Given the description of an element on the screen output the (x, y) to click on. 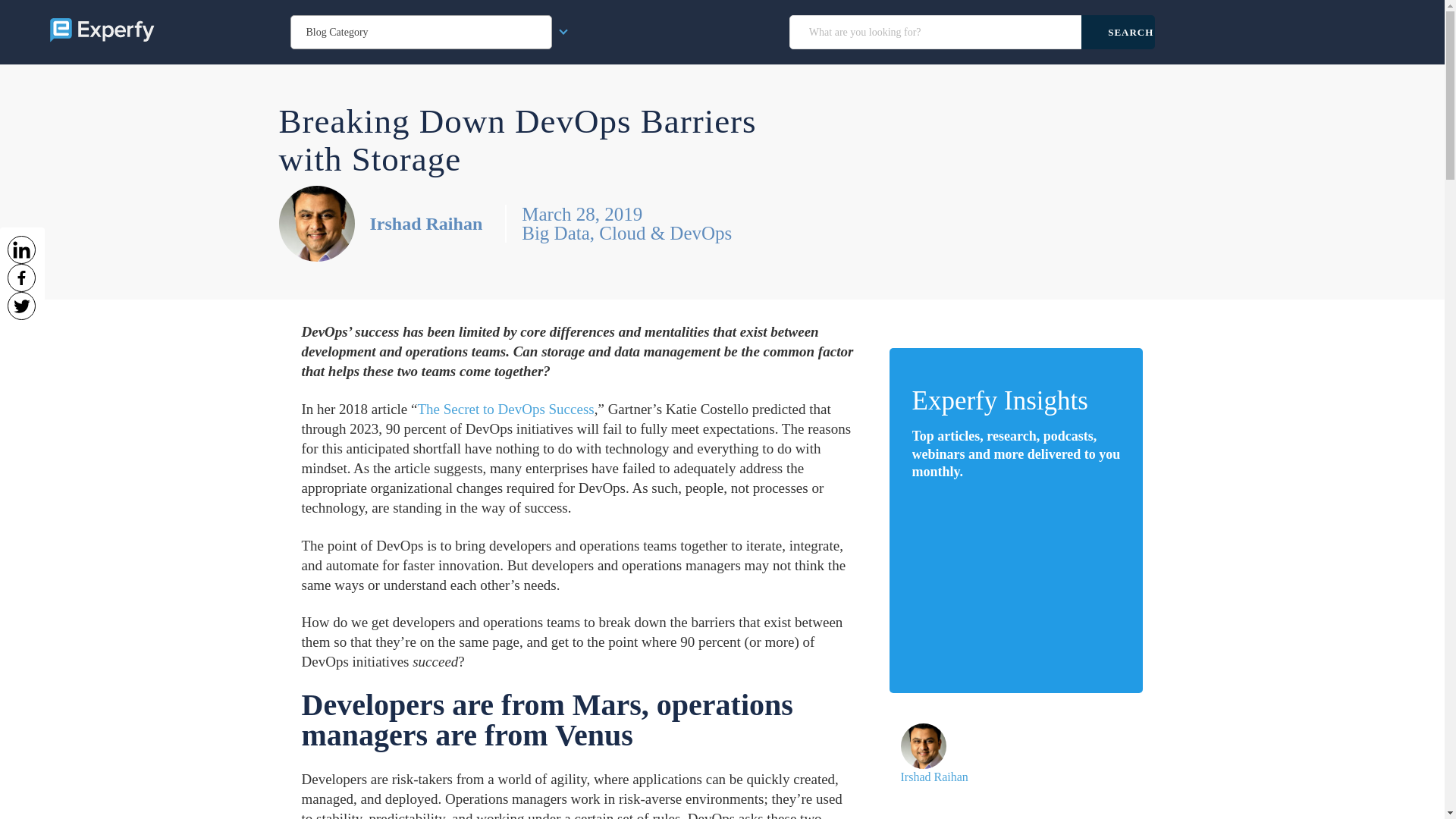
March 28, 2019 (626, 213)
Linkedin (20, 249)
Search (1117, 32)
Irshad Raihan (934, 776)
Search (1117, 32)
Search (1117, 32)
Facebook (20, 277)
The Secret to DevOps Success (505, 408)
Search for: (936, 32)
Twitter (20, 305)
Blog Category (421, 32)
Irshad Raihan (426, 223)
Form 0 (1015, 582)
